Given the description of an element on the screen output the (x, y) to click on. 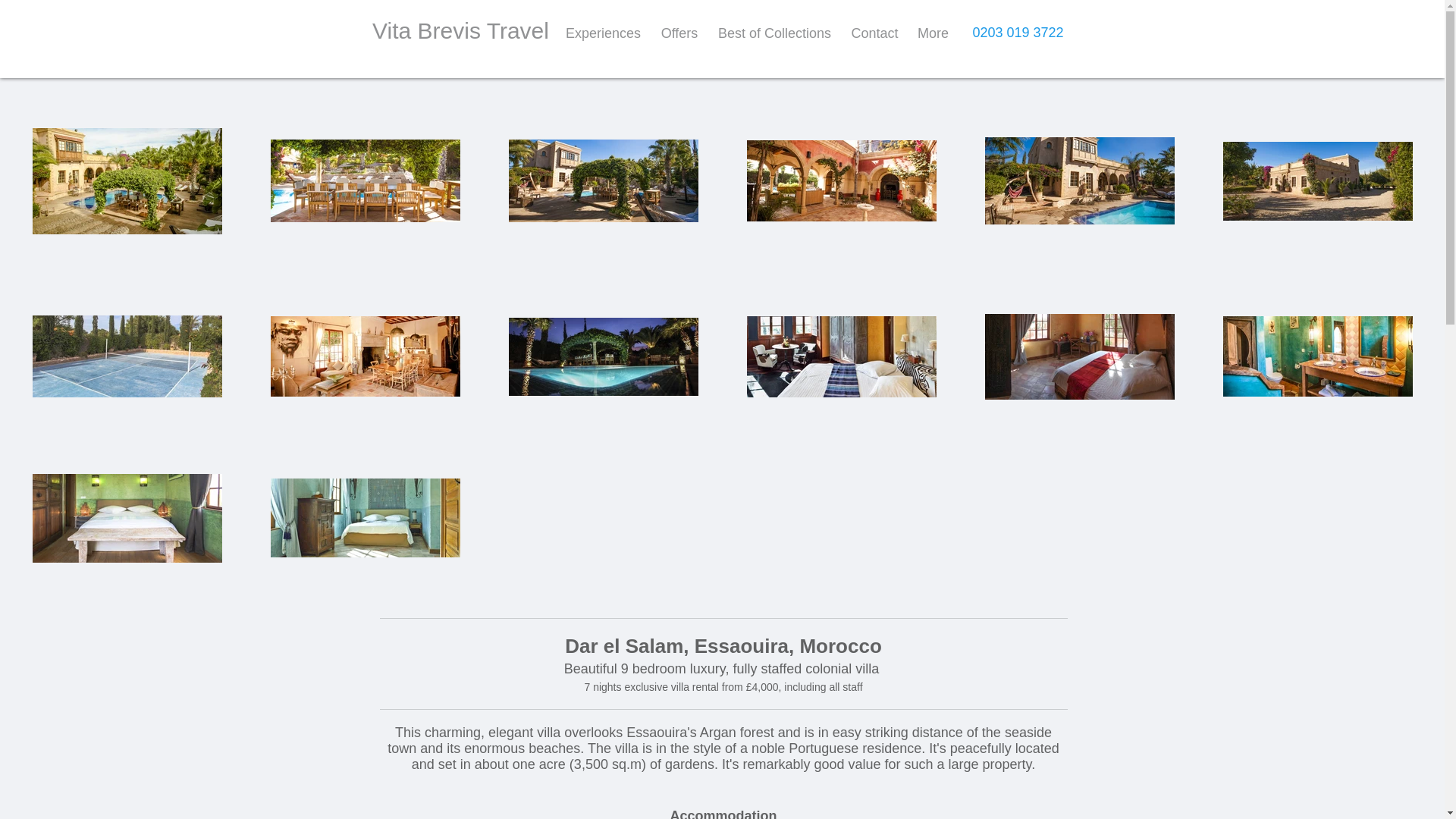
Experiences (602, 33)
Best of Collections (774, 33)
Contact (874, 33)
Vita Brevis Travel (460, 30)
Offers (678, 33)
